Given the description of an element on the screen output the (x, y) to click on. 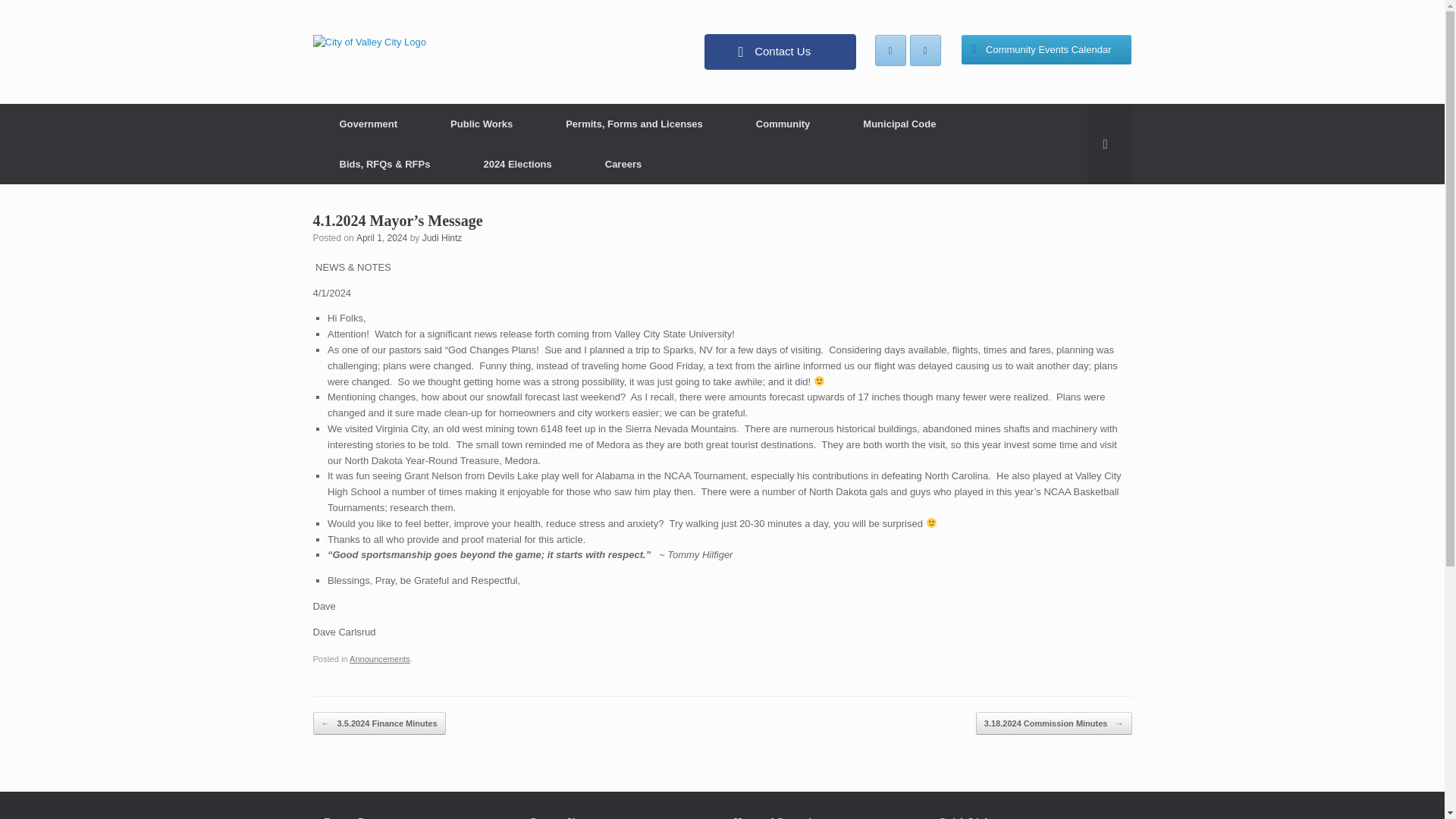
City of Valley City on Facebook (890, 50)
City of Valley City on Instagram (925, 50)
Contact Us (780, 51)
Permits, Forms and Licenses (633, 124)
City of Valley City (369, 41)
Community (783, 124)
Government (368, 124)
View all posts by Judi Hintz (442, 237)
Community Events Calendar (1046, 49)
Public Works (480, 124)
3:17 am (381, 237)
